Given the description of an element on the screen output the (x, y) to click on. 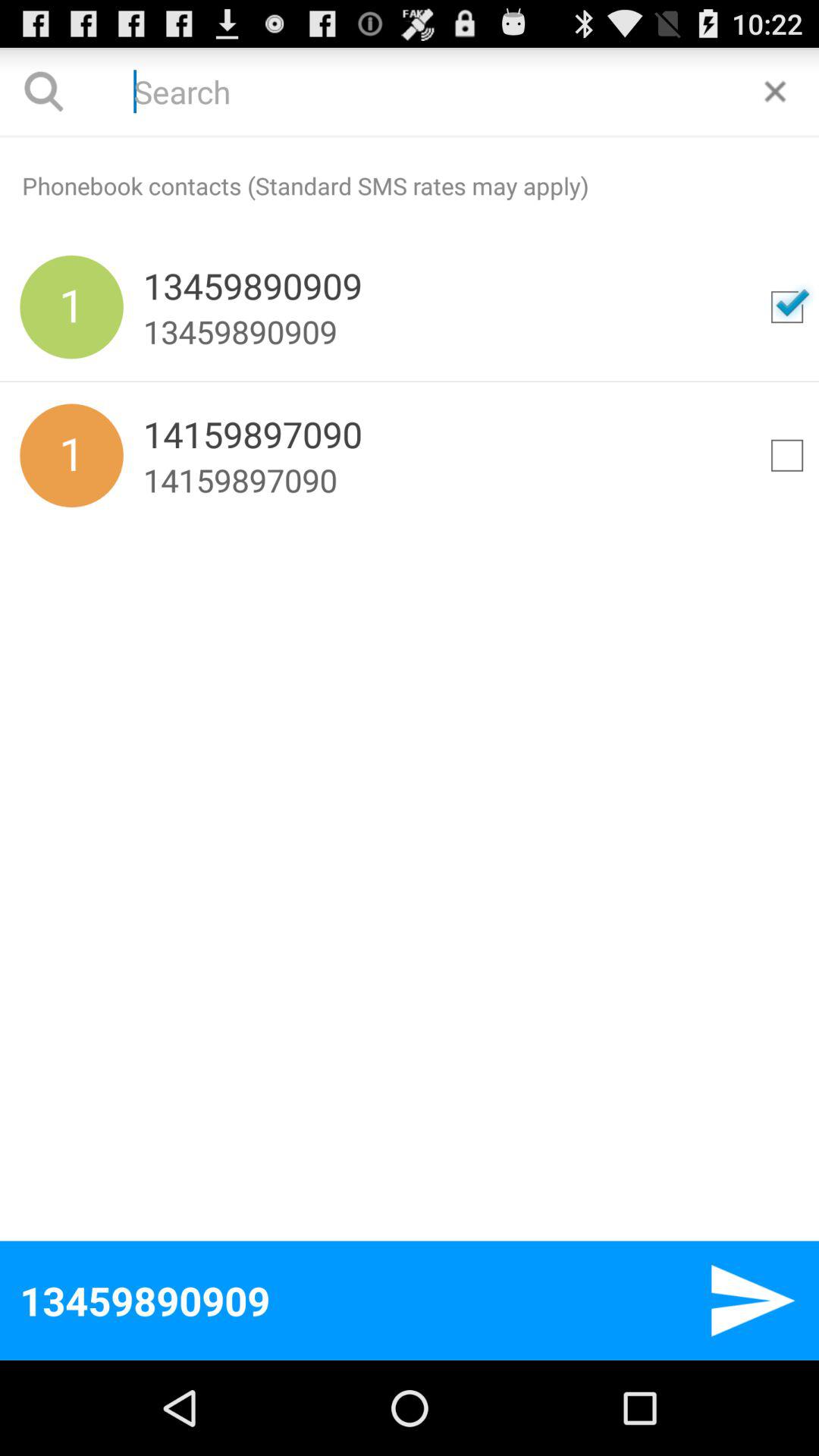
close search bar (775, 91)
